Given the description of an element on the screen output the (x, y) to click on. 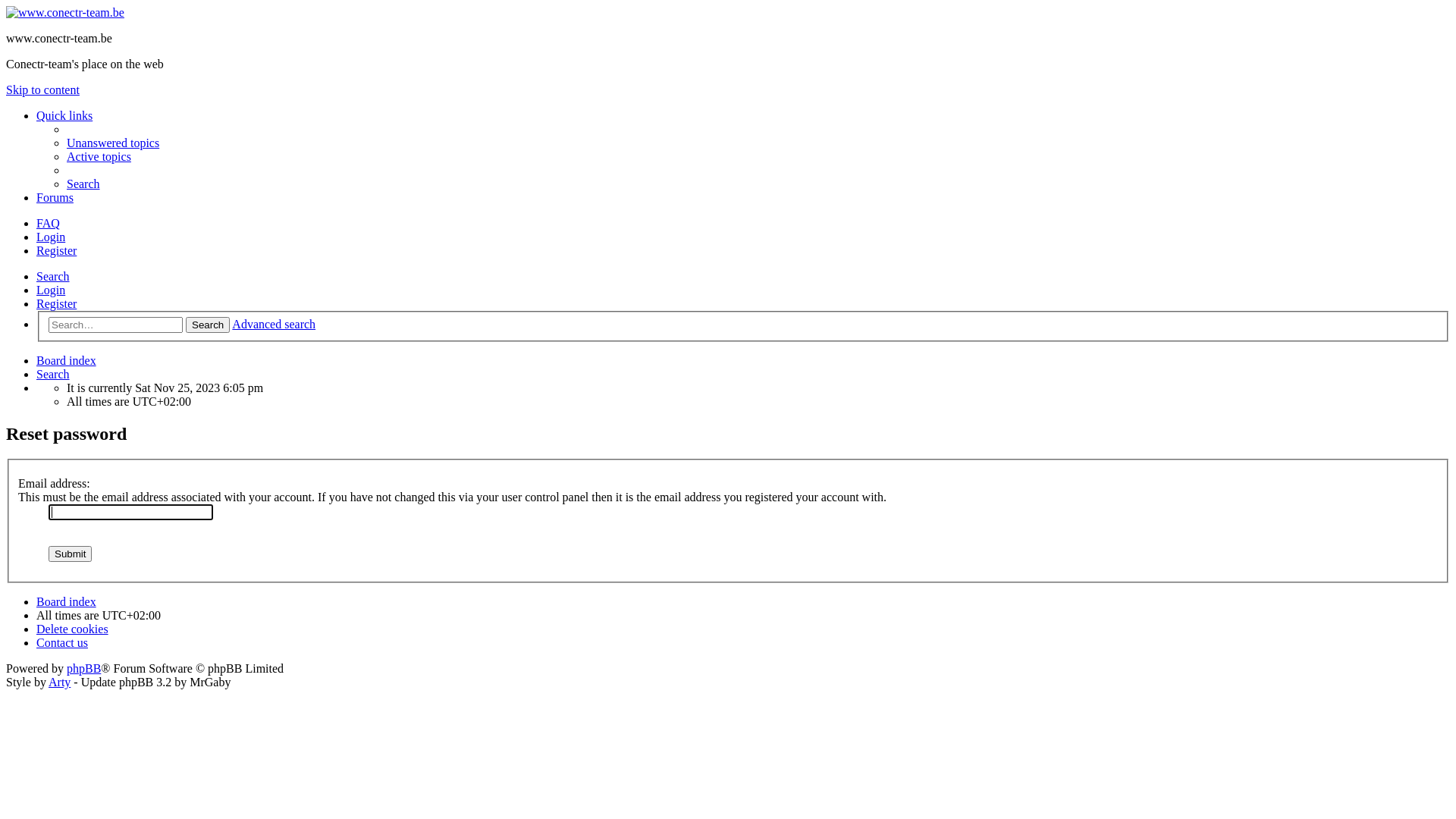
Search Element type: text (52, 275)
Forums Element type: text (54, 197)
Register Element type: text (56, 250)
Advanced search Element type: text (273, 323)
phpBB Element type: text (83, 668)
Board index Element type: text (66, 360)
Arty Element type: text (59, 681)
Skip to content Element type: text (42, 89)
Register Element type: text (56, 303)
Search Element type: text (83, 183)
Login Element type: text (50, 236)
Login Element type: text (50, 289)
Search for keywords Element type: hover (115, 324)
Board index Element type: text (66, 601)
Contact us Element type: text (61, 642)
Board index Element type: hover (65, 12)
Search Element type: text (207, 324)
FAQ Element type: text (47, 222)
Submit Element type: text (69, 553)
Search Element type: text (52, 373)
Quick links Element type: text (64, 115)
Unanswered topics Element type: text (112, 142)
Active topics Element type: text (98, 156)
Delete cookies Element type: text (72, 628)
